Given the description of an element on the screen output the (x, y) to click on. 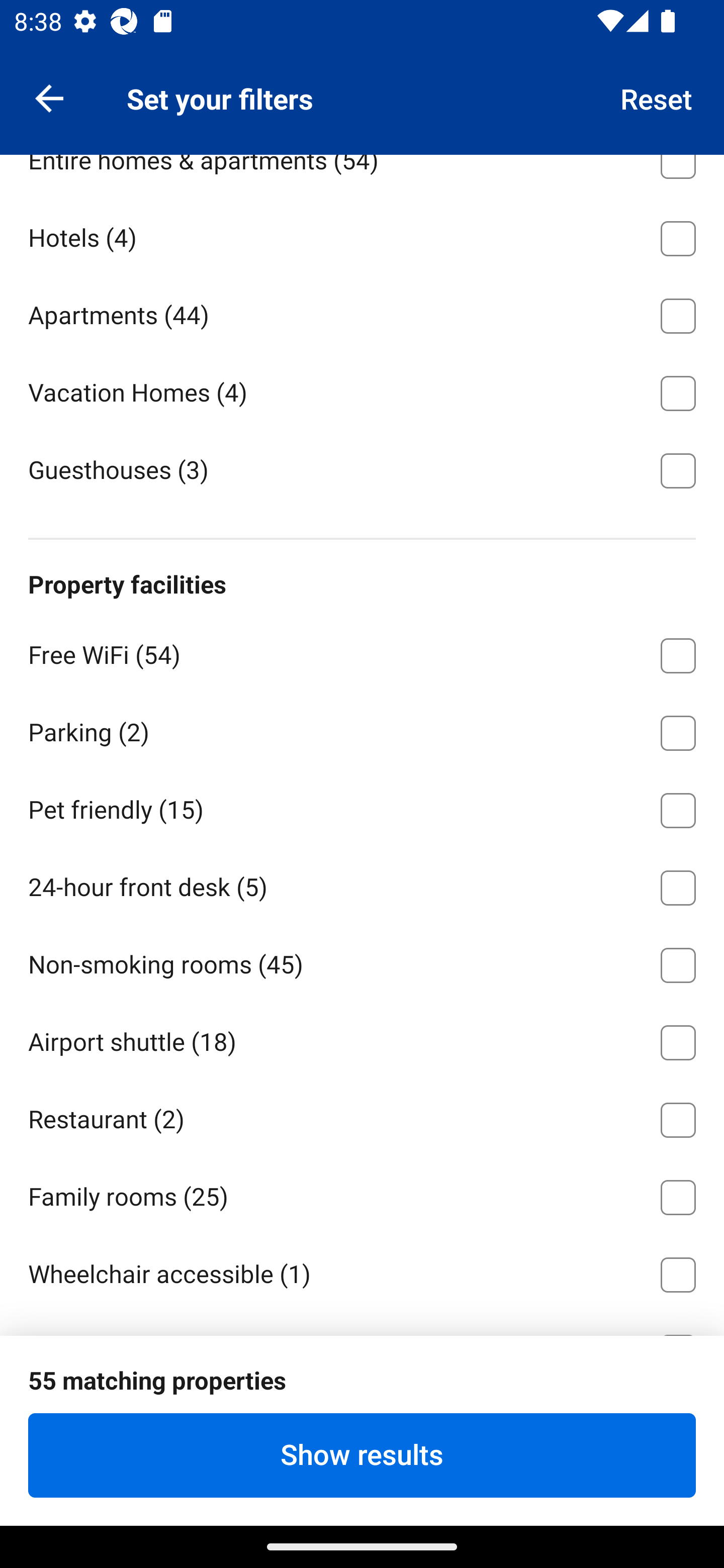
Navigate up (49, 97)
Reset (656, 97)
Entire homes & apartments ⁦(54) (361, 175)
Hotels ⁦(4) (361, 235)
Apartments ⁦(44) (361, 312)
Vacation Homes ⁦(4) (361, 389)
Guesthouses ⁦(3) (361, 468)
Free WiFi ⁦(54) (361, 652)
Parking ⁦(2) (361, 729)
Pet friendly ⁦(15) (361, 806)
24-hour front desk ⁦(5) (361, 884)
Non-smoking rooms ⁦(45) (361, 961)
Airport shuttle ⁦(18) (361, 1039)
Restaurant ⁦(2) (361, 1116)
Family rooms ⁦(25) (361, 1193)
Wheelchair accessible ⁦(1) (361, 1271)
Show results (361, 1454)
